Given the description of an element on the screen output the (x, y) to click on. 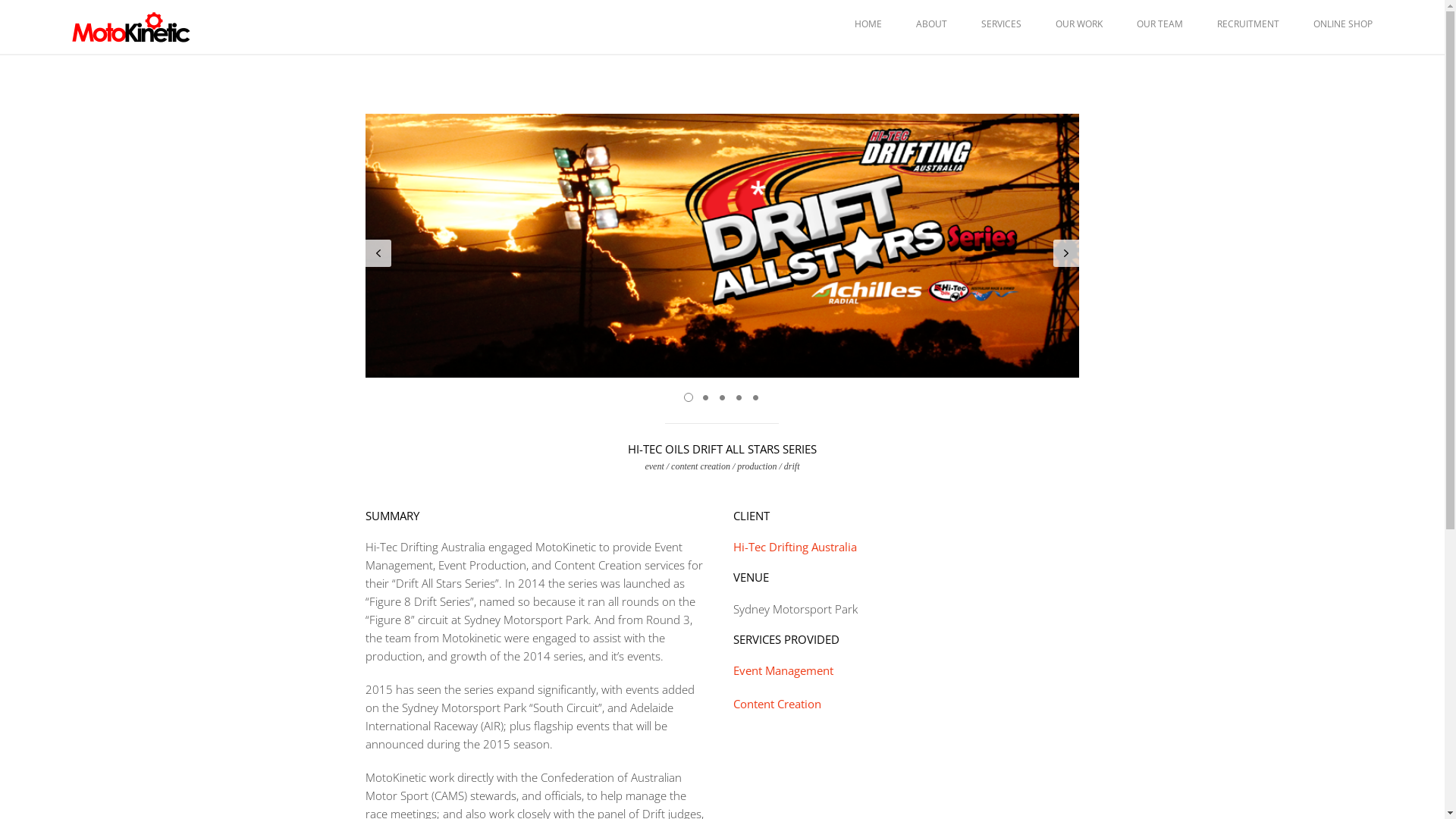
OUR WORK Element type: text (1078, 23)
SERVICES Element type: text (1001, 23)
Content Creation Element type: text (777, 703)
Hi-Tec Drifting Australia Element type: text (794, 546)
Prev Element type: text (378, 252)
3 Element type: text (721, 396)
4 Element type: text (738, 396)
1 Element type: text (688, 396)
Event Management Element type: text (783, 669)
MotoKinetic Element type: hover (131, 25)
Next Element type: text (1066, 252)
OUR TEAM Element type: text (1159, 23)
RECRUITMENT Element type: text (1248, 23)
HOME Element type: text (867, 23)
5 Element type: text (754, 396)
2 Element type: text (704, 396)
ABOUT Element type: text (931, 23)
ONLINE SHOP Element type: text (1342, 23)
